Given the description of an element on the screen output the (x, y) to click on. 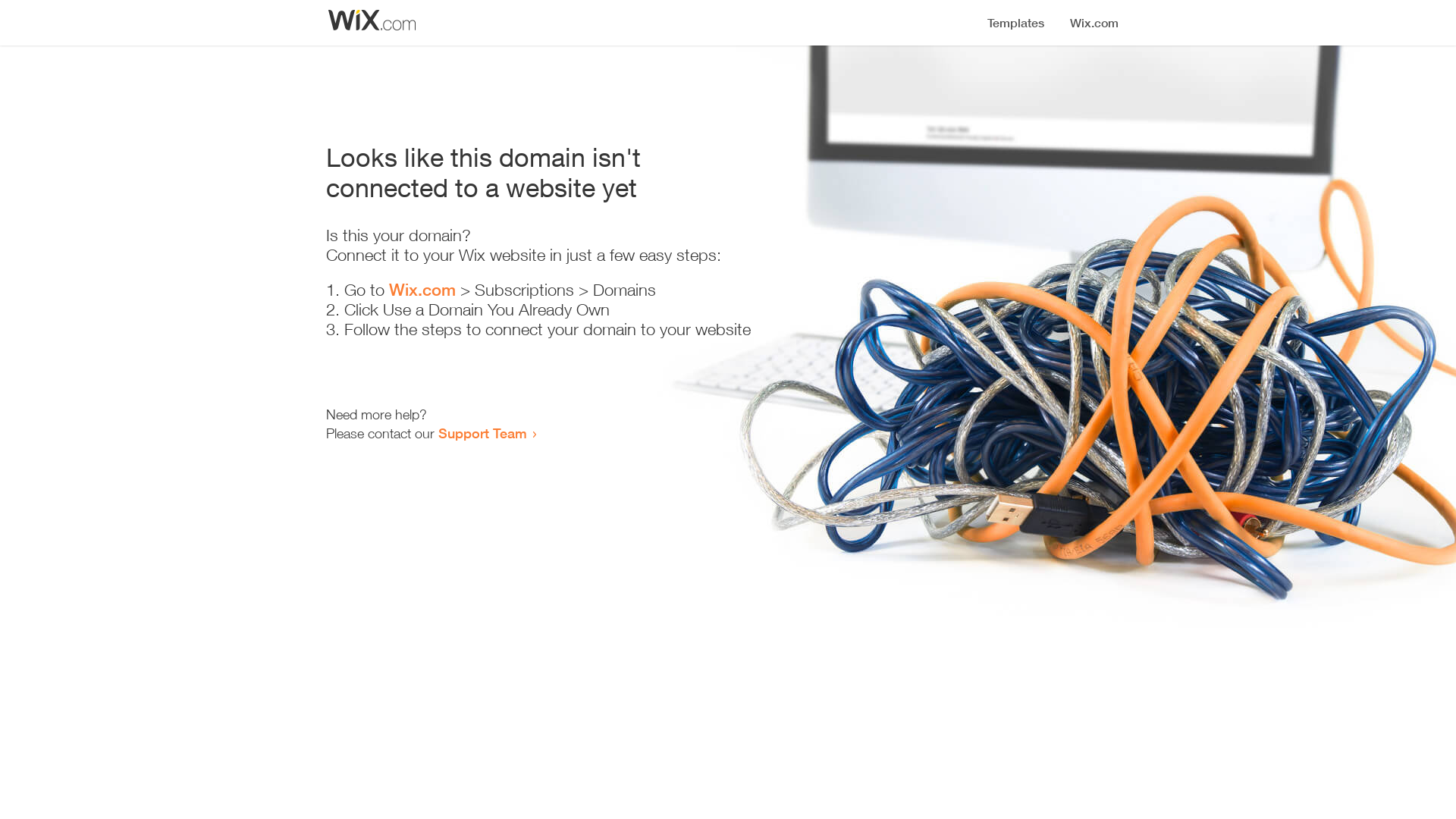
Support Team Element type: text (482, 432)
Wix.com Element type: text (422, 289)
